Given the description of an element on the screen output the (x, y) to click on. 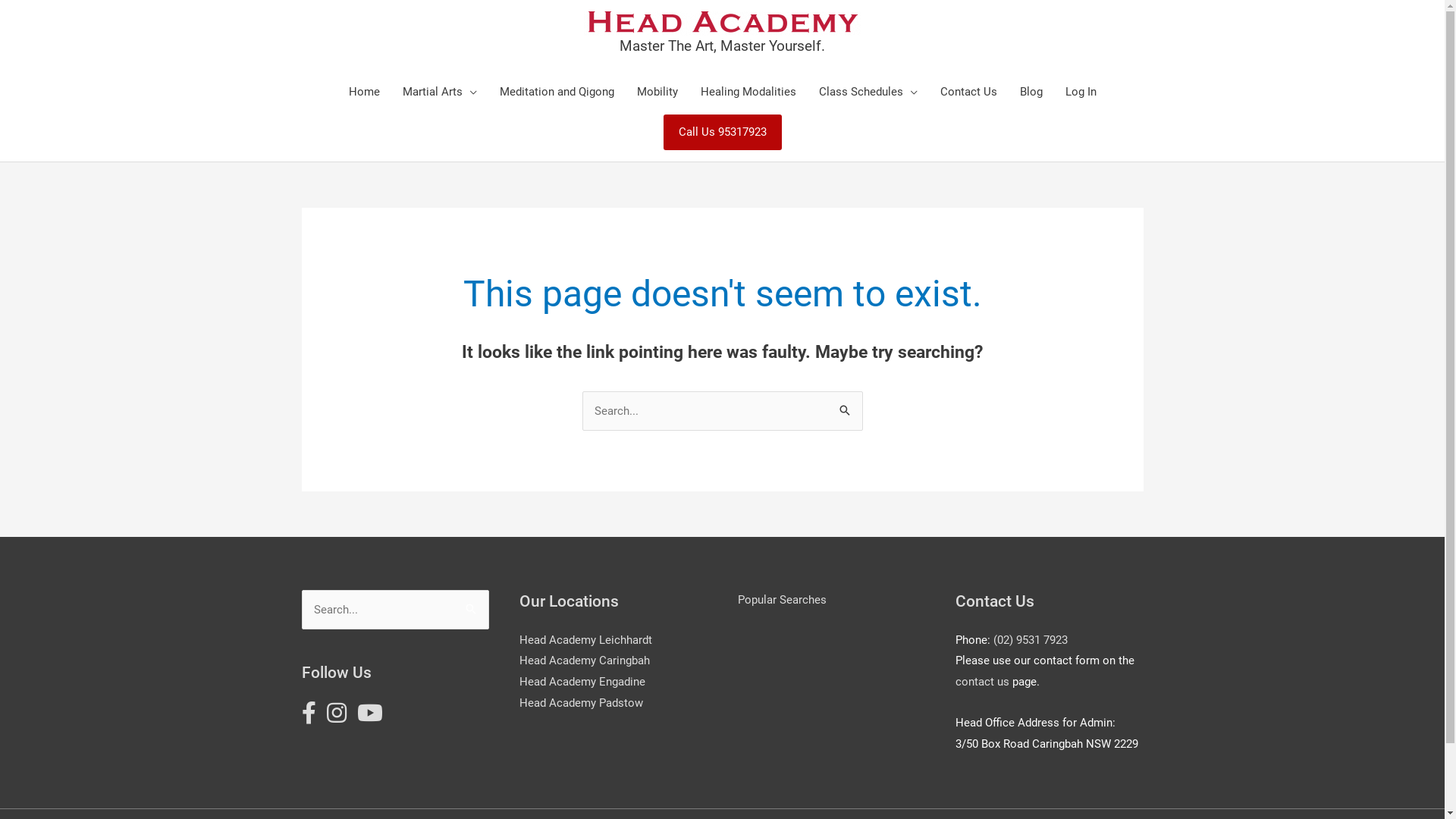
Head Academy Caringbah Element type: text (584, 660)
Mobility Element type: text (656, 90)
Search Element type: text (472, 609)
contact us Element type: text (982, 681)
Class Schedules Element type: text (867, 90)
Meditation and Qigong Element type: text (556, 90)
Popular Searches Element type: text (781, 599)
Head Academy Engadine Element type: text (582, 681)
Head Academy Leichhardt Element type: text (585, 639)
Call Us 95317923 Element type: text (721, 131)
Contact Us Element type: text (967, 90)
Search Element type: text (845, 411)
Log In Element type: text (1080, 90)
(02) 9531 7923 Element type: text (1030, 639)
Healing Modalities Element type: text (747, 90)
Home Element type: text (363, 90)
Martial Arts Element type: text (439, 90)
Head Academy Padstow Element type: text (581, 702)
Blog Element type: text (1031, 90)
